Given the description of an element on the screen output the (x, y) to click on. 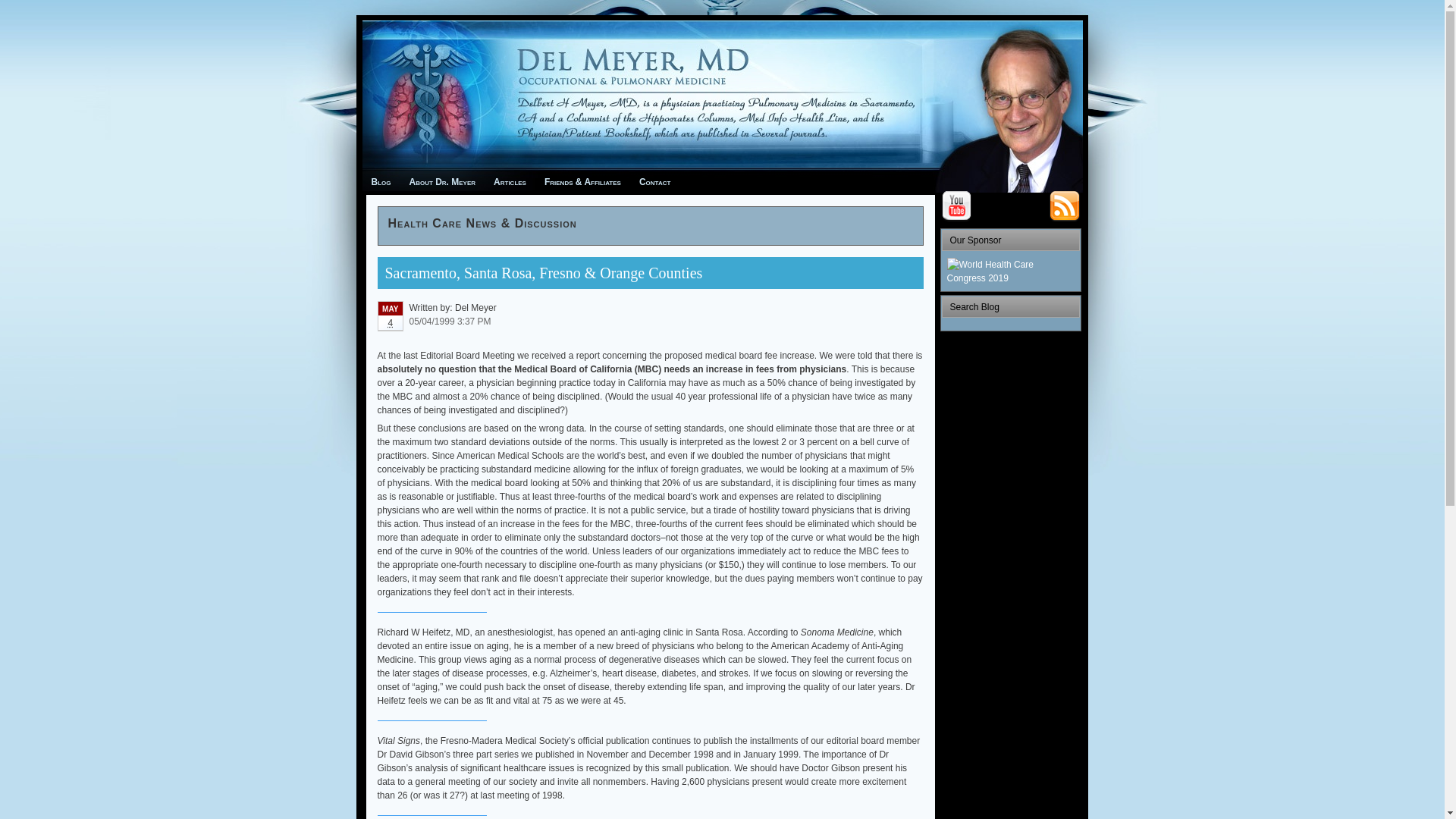
Contact (654, 181)
World Health Care Congress 2019 (1010, 271)
About Dr. Meyer (442, 181)
Blog (381, 181)
Articles (509, 181)
